Given the description of an element on the screen output the (x, y) to click on. 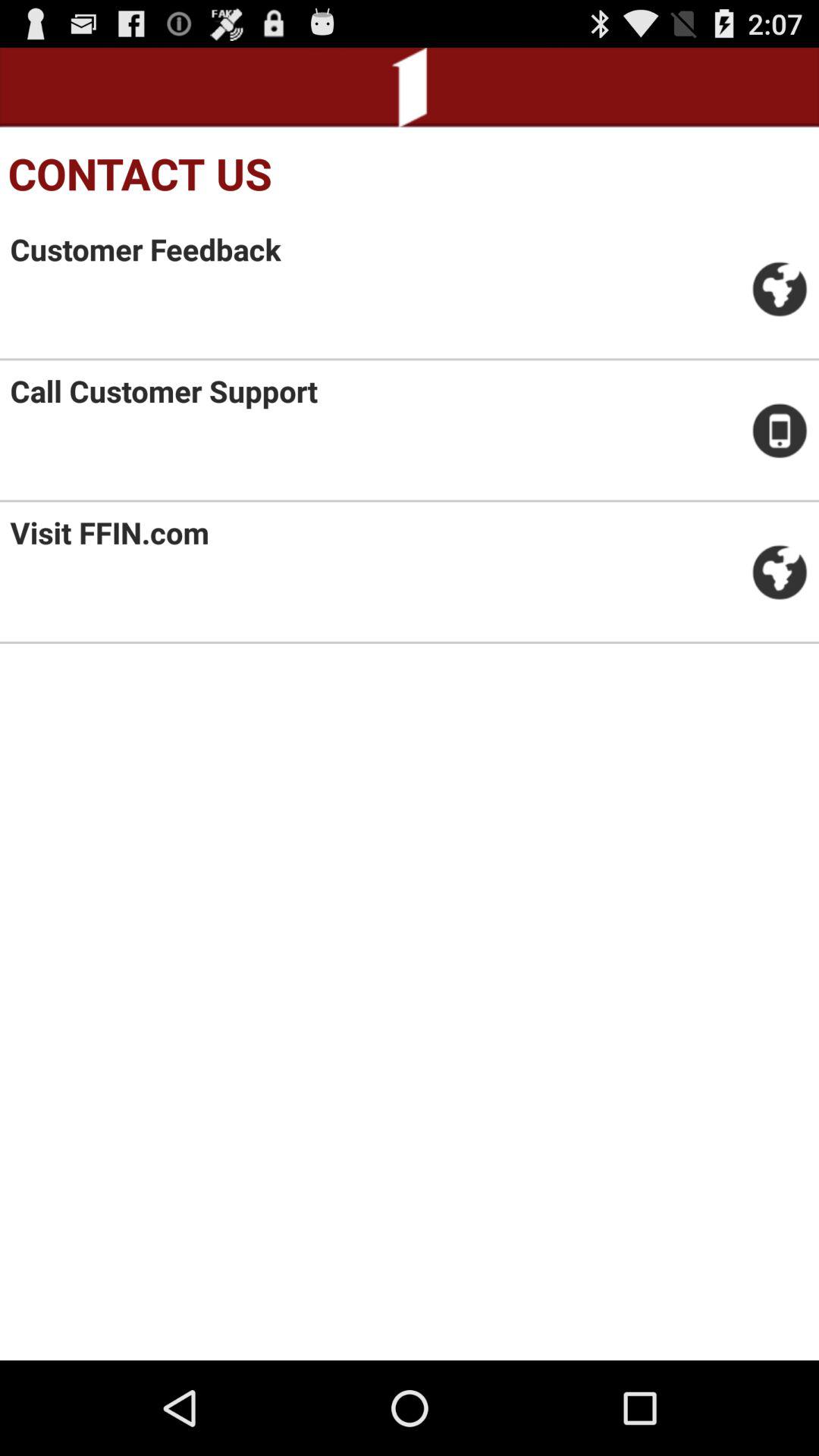
launch the call customer support (163, 390)
